Given the description of an element on the screen output the (x, y) to click on. 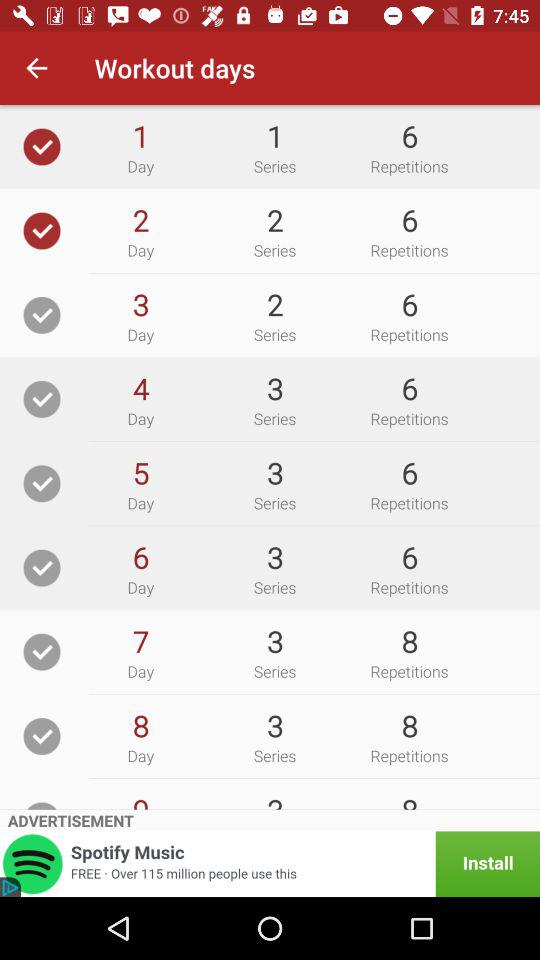
abs workout a6w flat belly at home (41, 483)
